Given the description of an element on the screen output the (x, y) to click on. 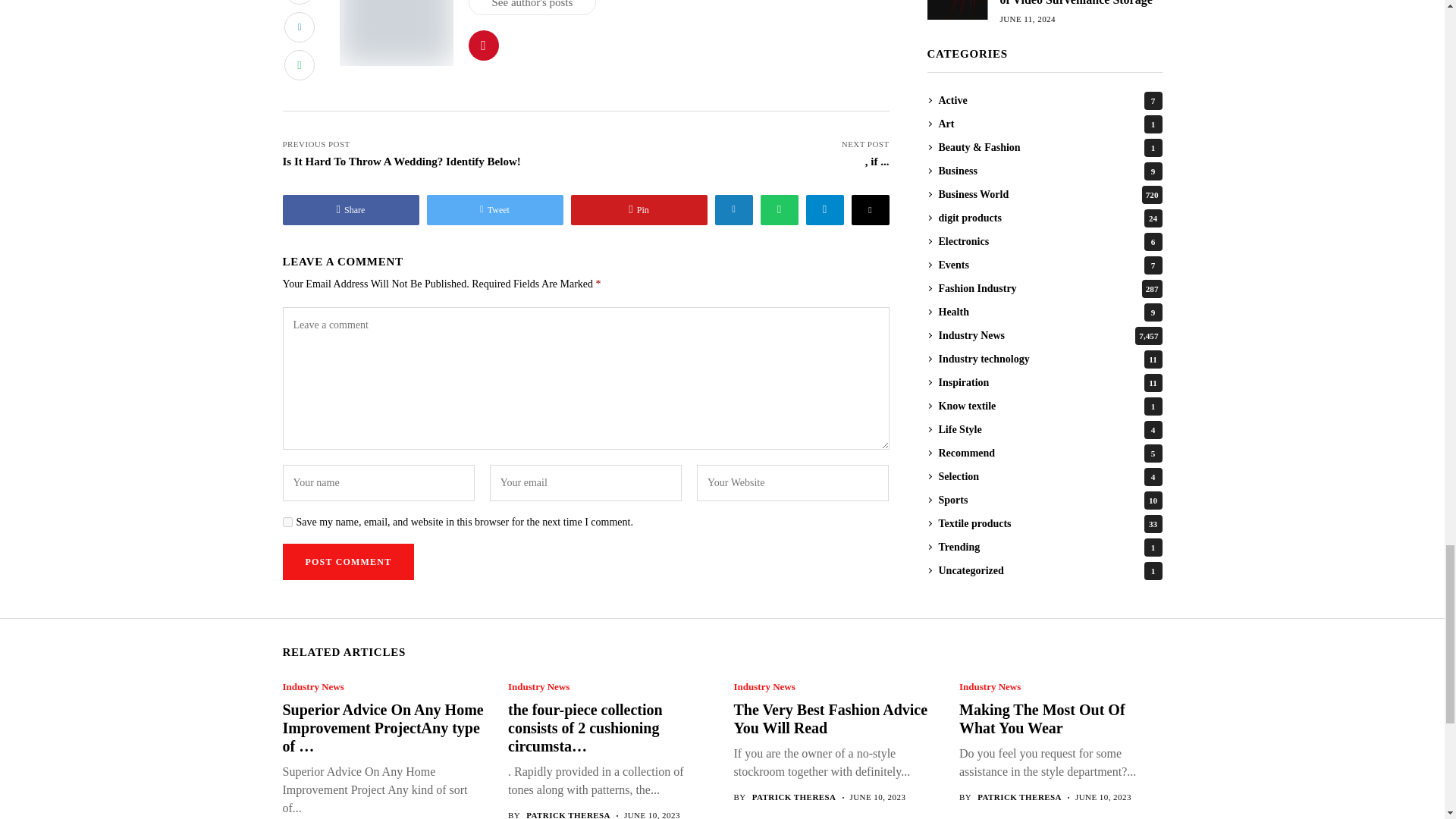
Posts by Patrick Theresa (567, 814)
Posts by Patrick Theresa (793, 797)
Post Comment (347, 561)
yes (287, 521)
Posts by Patrick Theresa (1018, 797)
